Given the description of an element on the screen output the (x, y) to click on. 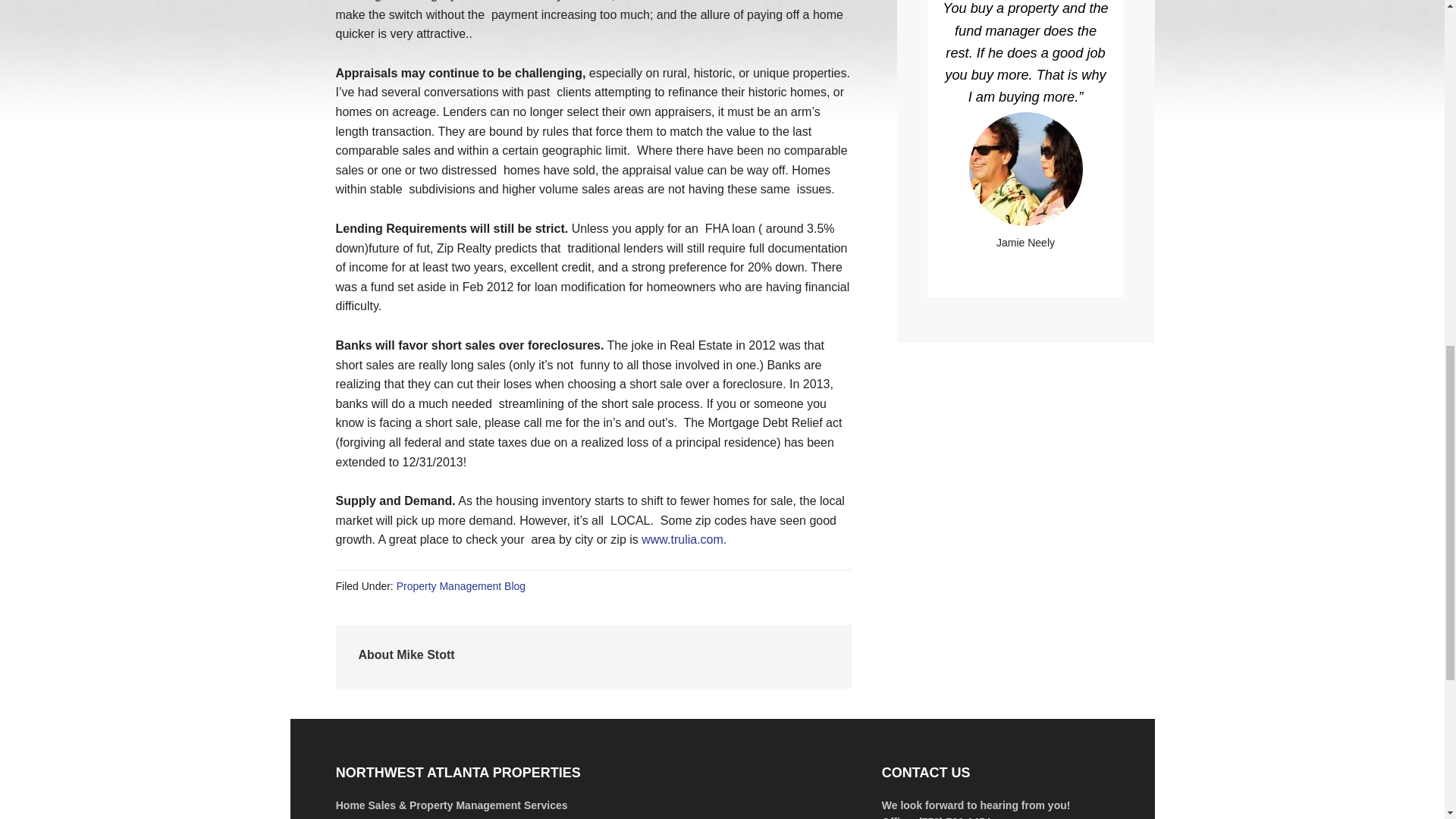
Property Management Blog (460, 585)
www.trulia.com. (684, 539)
